Given the description of an element on the screen output the (x, y) to click on. 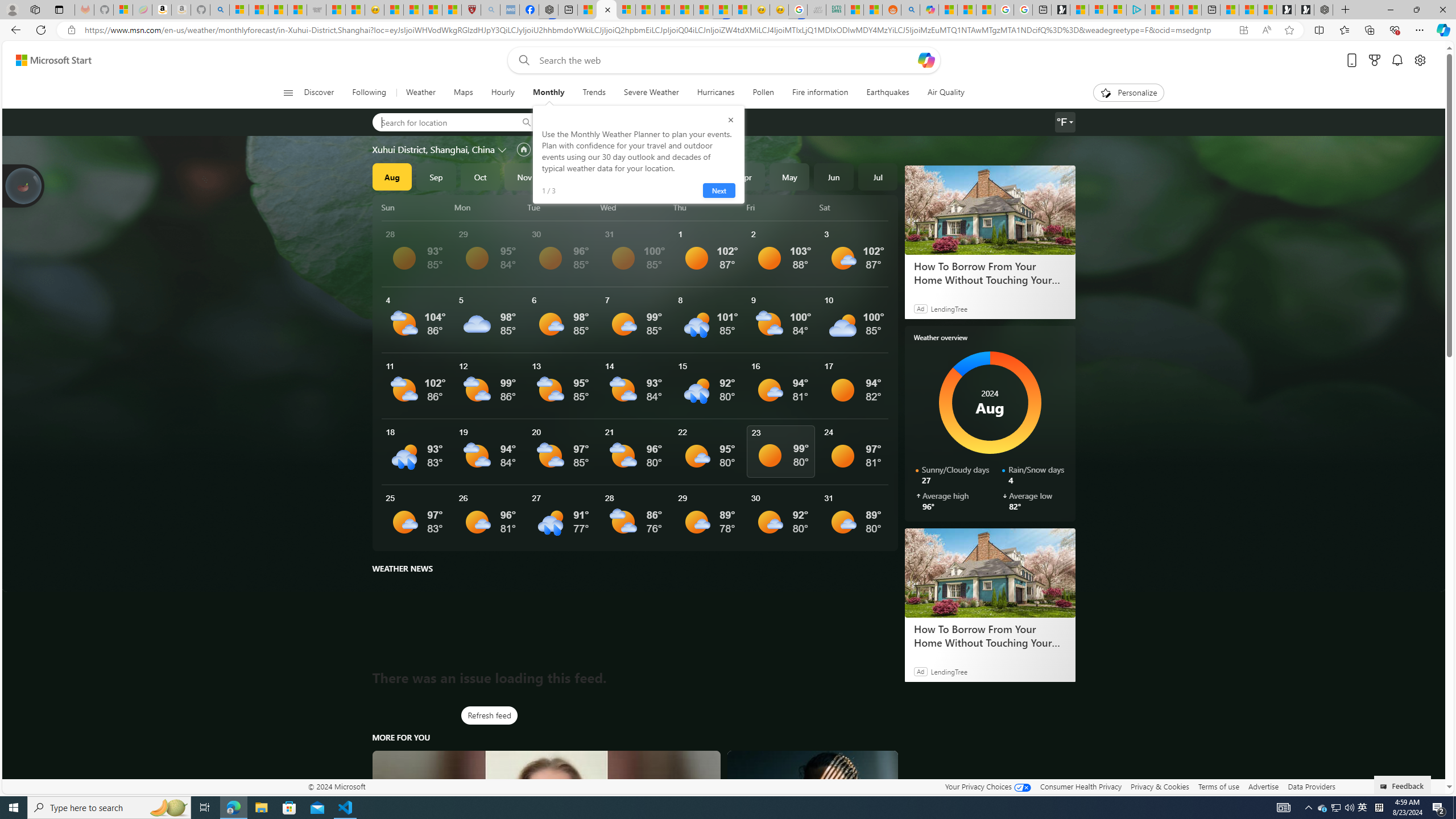
Severe Weather (651, 92)
Consumer Health Privacy (1080, 786)
App available. Install Microsoft Start Weather (1243, 29)
Hourly (502, 92)
Nov (523, 176)
Mon (489, 207)
Nordace - Nordace Siena Is Not An Ordinary Backpack (1323, 9)
Enter your search term (726, 59)
